Given the description of an element on the screen output the (x, y) to click on. 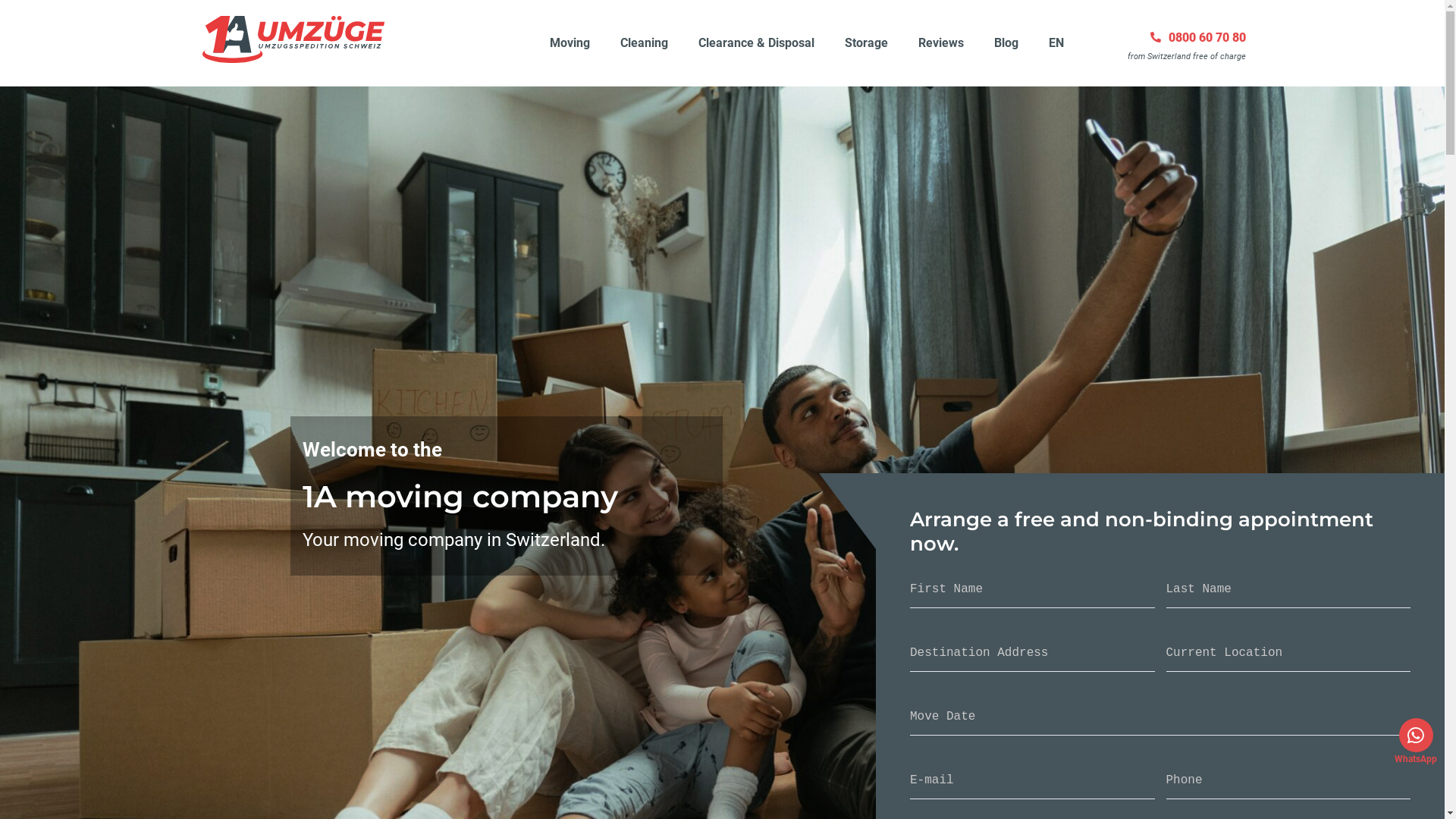
EN Element type: text (1056, 42)
Moving Element type: text (569, 42)
Reviews Element type: text (941, 42)
0800 60 70 80 Element type: text (1197, 37)
Clearance & Disposal Element type: text (756, 42)
Cleaning Element type: text (644, 42)
Blog Element type: text (1006, 42)
Storage Element type: text (866, 42)
